Given the description of an element on the screen output the (x, y) to click on. 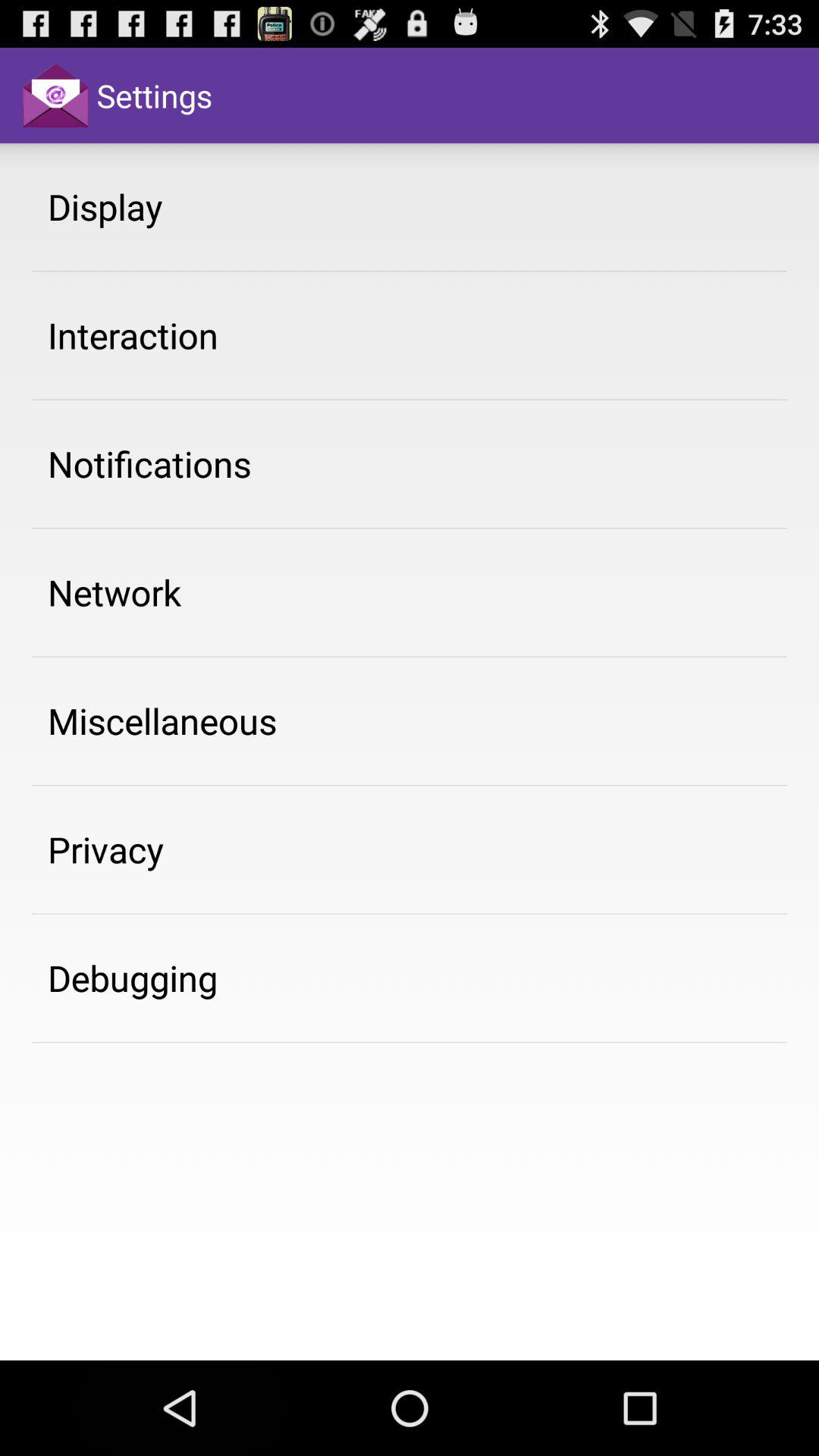
swipe to display app (104, 206)
